Given the description of an element on the screen output the (x, y) to click on. 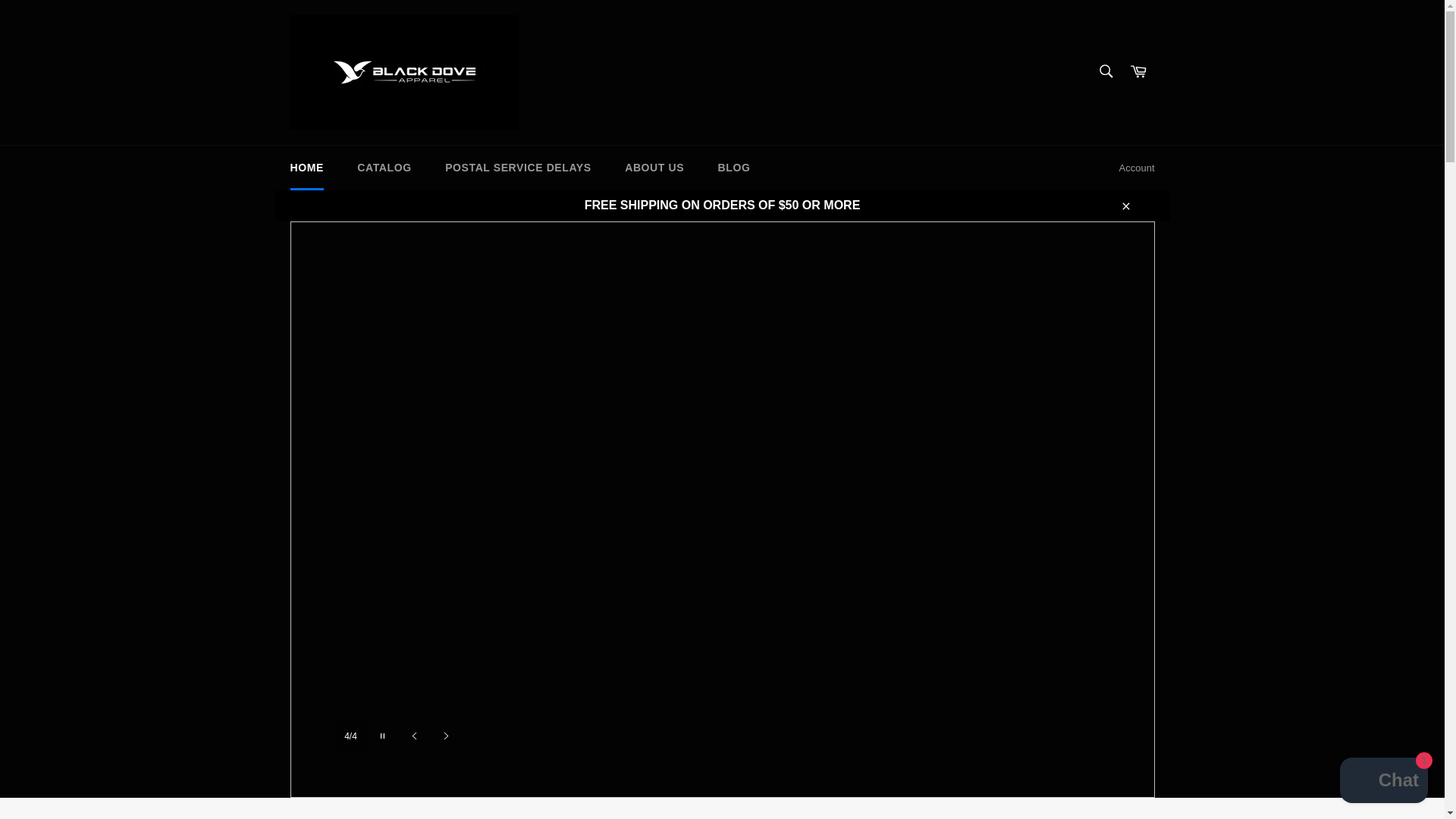
POSTAL SERVICE DELAYS (518, 167)
Previous slide (413, 736)
ABOUT US (654, 167)
Shopify online store chat (1383, 781)
Search (1104, 70)
HOME (306, 167)
BLOG (734, 167)
Next slide (445, 736)
CATALOG (384, 167)
Account (1136, 168)
Pause slideshow (381, 736)
Cart (1138, 72)
Close (1124, 205)
